Given the description of an element on the screen output the (x, y) to click on. 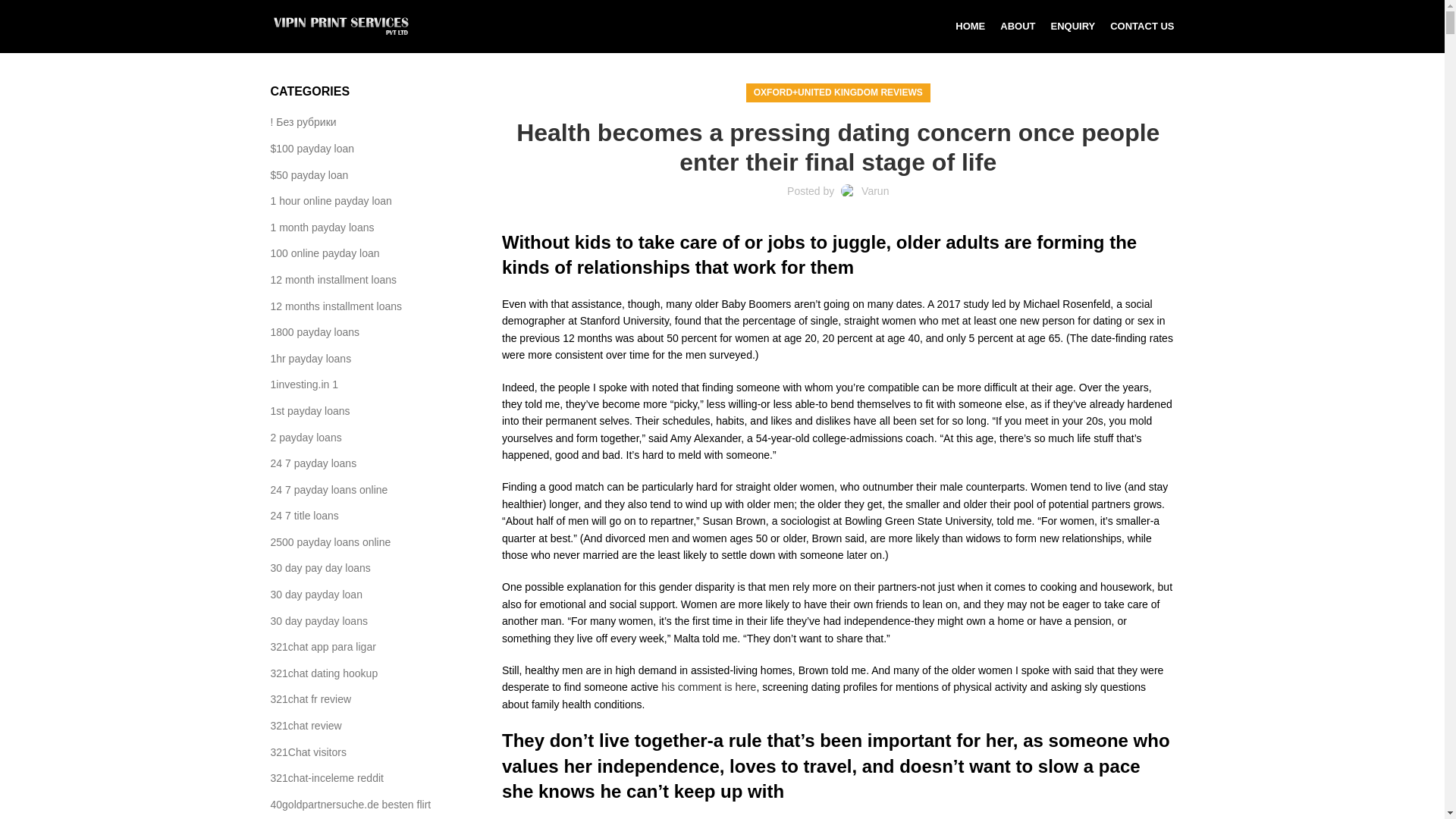
2 payday loans (305, 437)
ENQUIRY (1071, 26)
24 7 title loans (304, 516)
HOME (970, 26)
1st payday loans (309, 411)
1 month payday loans (322, 227)
30 day pay day loans (320, 568)
30 day payday loans (318, 621)
CONTACT US (1141, 26)
ABOUT (1017, 26)
